Given the description of an element on the screen output the (x, y) to click on. 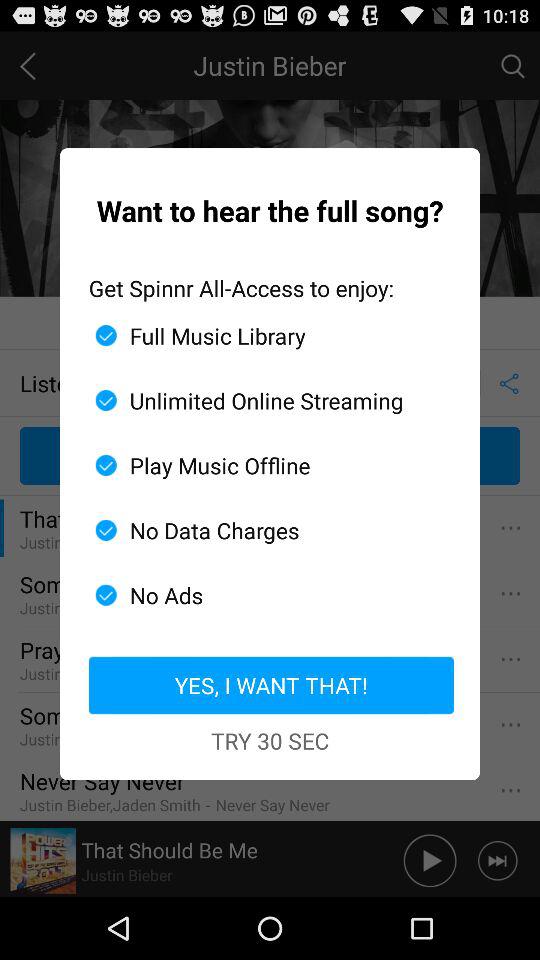
flip until the no data charges (261, 530)
